Given the description of an element on the screen output the (x, y) to click on. 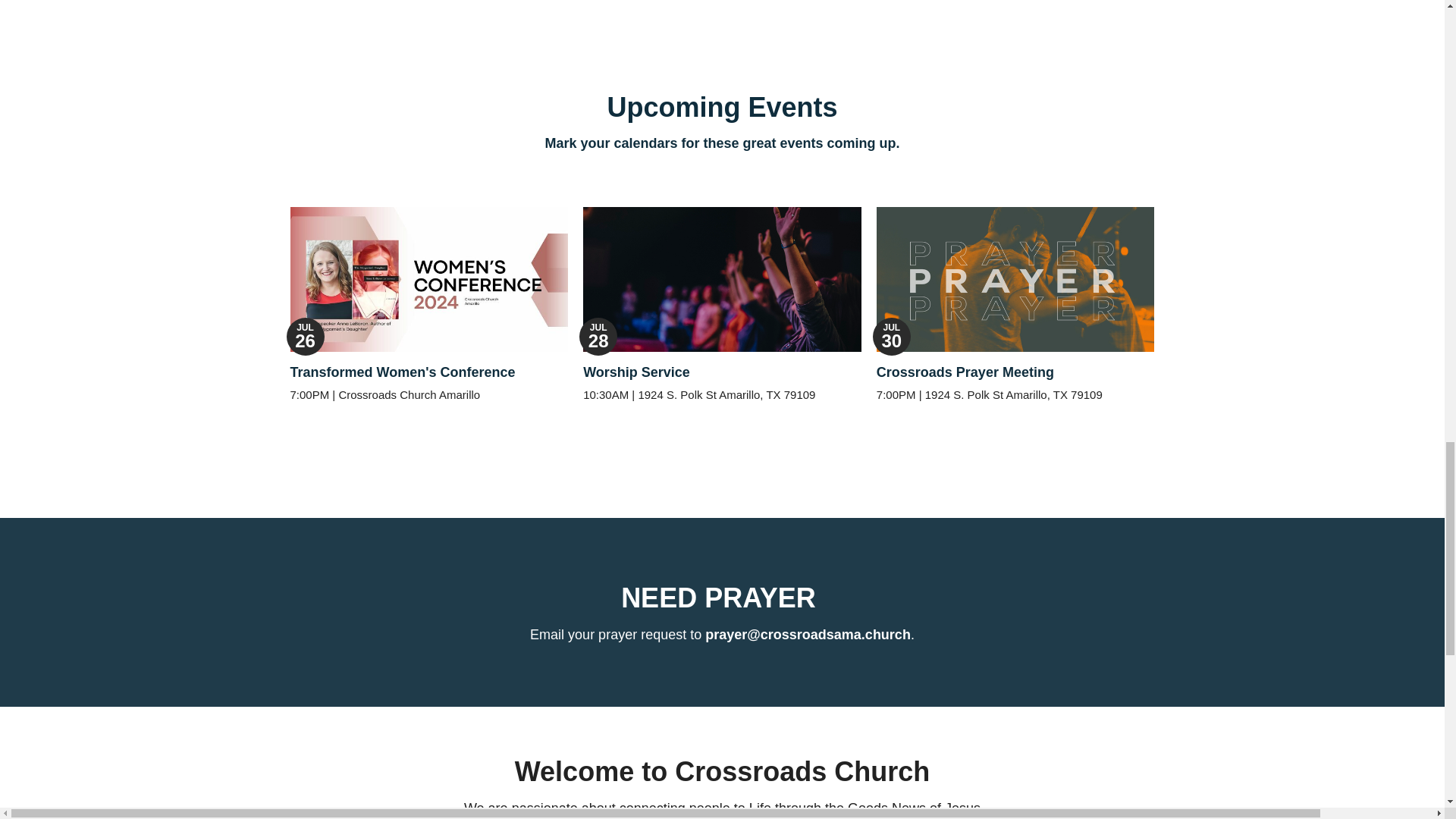
Crossroads Prayer Ministry Email (807, 634)
